Given the description of an element on the screen output the (x, y) to click on. 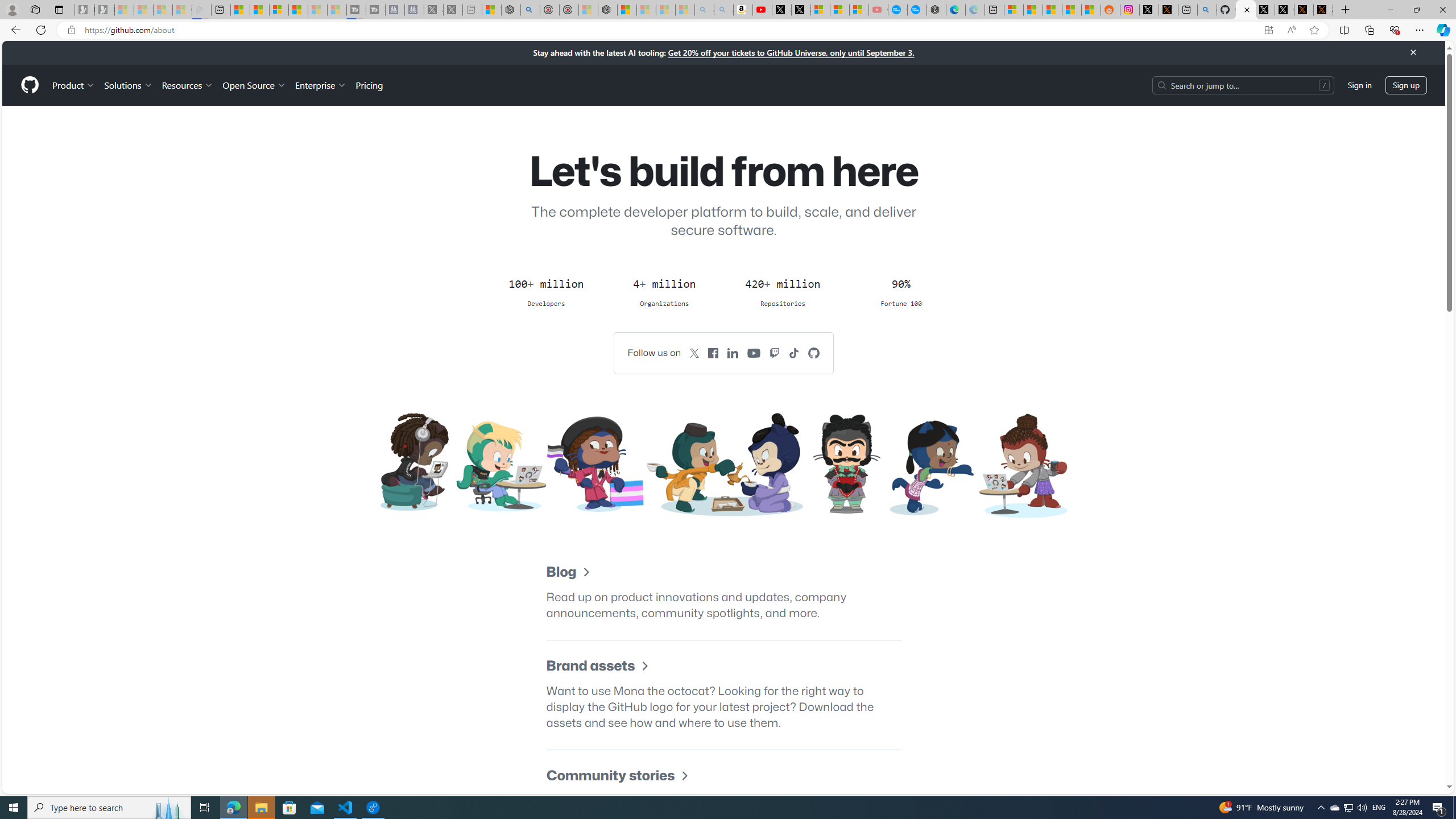
GitHub on YouTube (753, 352)
Enterprise (319, 84)
Open Source (254, 84)
GitHub on YouTube (753, 352)
Solutions (128, 84)
GitHub on LinkedIn (733, 352)
GitHub (@github) / X (1283, 9)
Sign up (1406, 84)
